Given the description of an element on the screen output the (x, y) to click on. 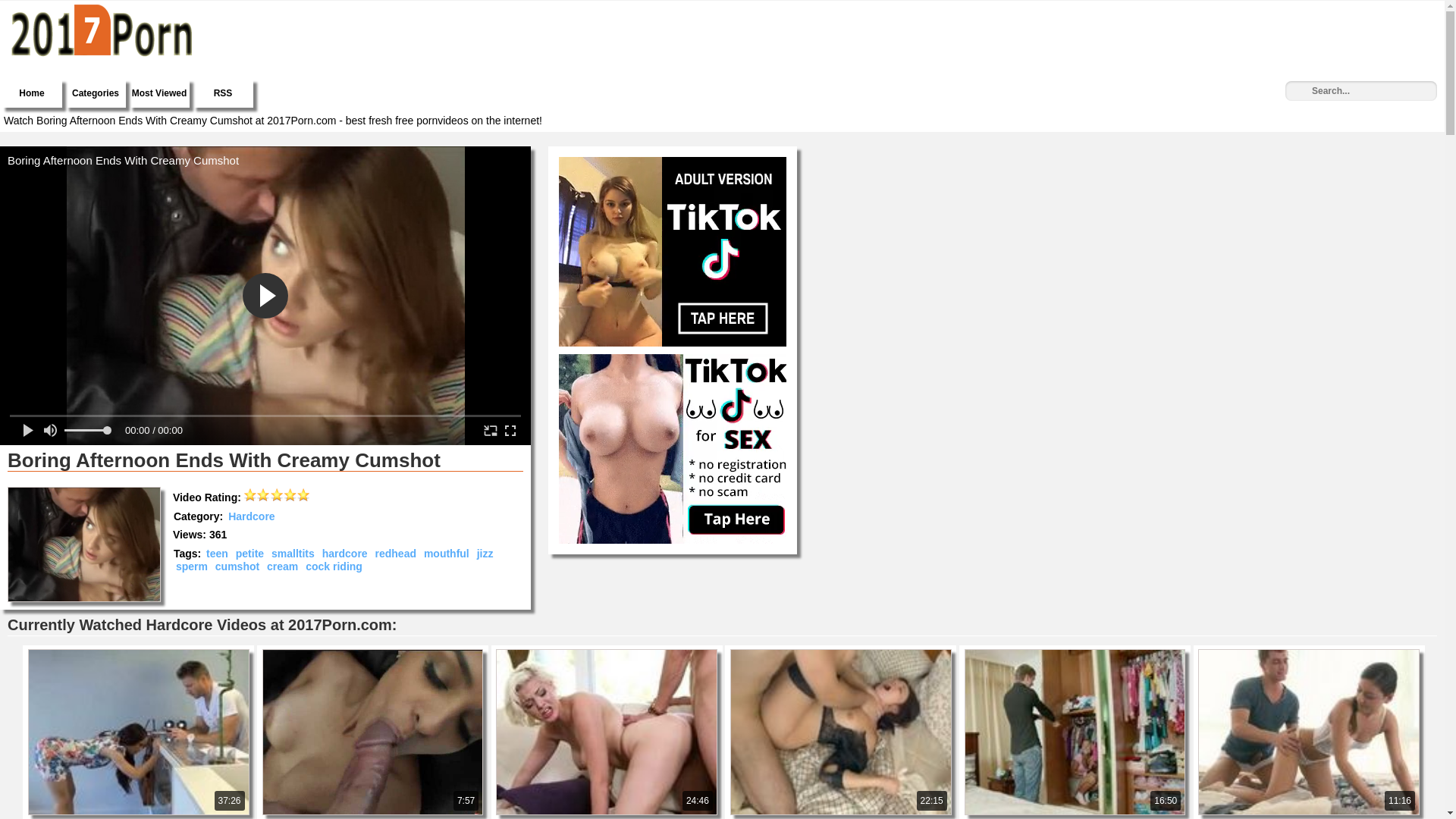
cumshot Element type: text (237, 566)
Boring Afternoon Ends With Creamy Cumshot Element type: hover (84, 544)
sperm Element type: text (191, 566)
37:26
Good Looking Babe Fucked By Shop Owner
536 Element type: text (139, 652)
24:46
Busty Blonde Fucking A Thick Cock
733 Element type: text (608, 652)
redhead Element type: text (395, 553)
22:15
Revenge Was Only Thing On Angry Guys Mind
527 Element type: text (841, 652)
Home Element type: text (31, 92)
teen Element type: text (216, 553)
Categories Element type: text (95, 92)
hardcore Element type: text (345, 553)
mouthful Element type: text (446, 553)
7:57
Cheer Her Up WIth Her Boyfriends Cock
311 Element type: text (374, 652)
RSS Element type: text (222, 92)
jizz Element type: text (484, 553)
Hardcore Element type: text (250, 516)
cock riding Element type: text (333, 566)
smalltits Element type: text (292, 553)
petite Element type: text (249, 553)
Most Viewed Element type: text (158, 92)
cream Element type: text (282, 566)
